Given the description of an element on the screen output the (x, y) to click on. 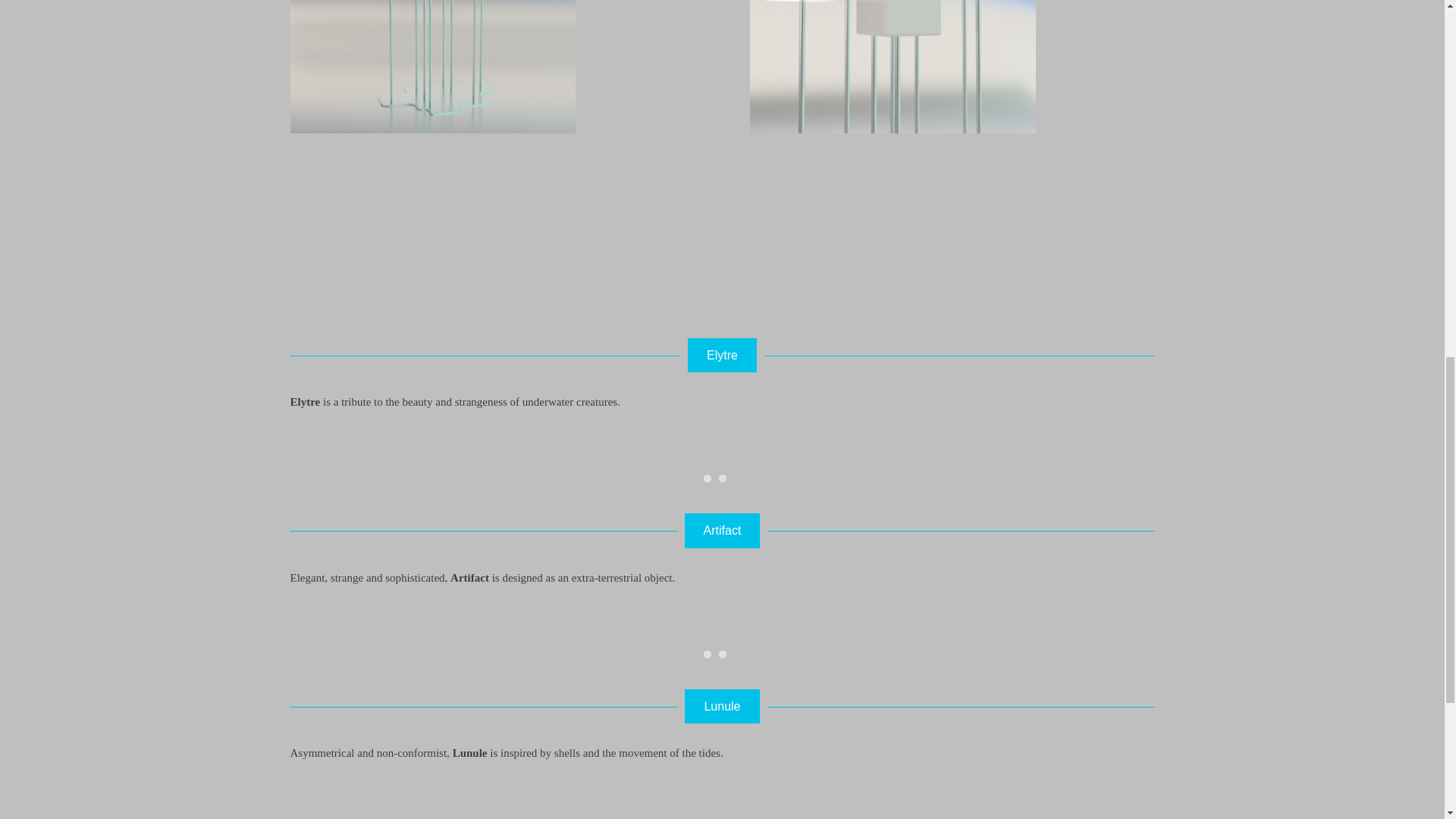
Floor Lamp (878, 59)
Floor Lamp (419, 59)
